Given the description of an element on the screen output the (x, y) to click on. 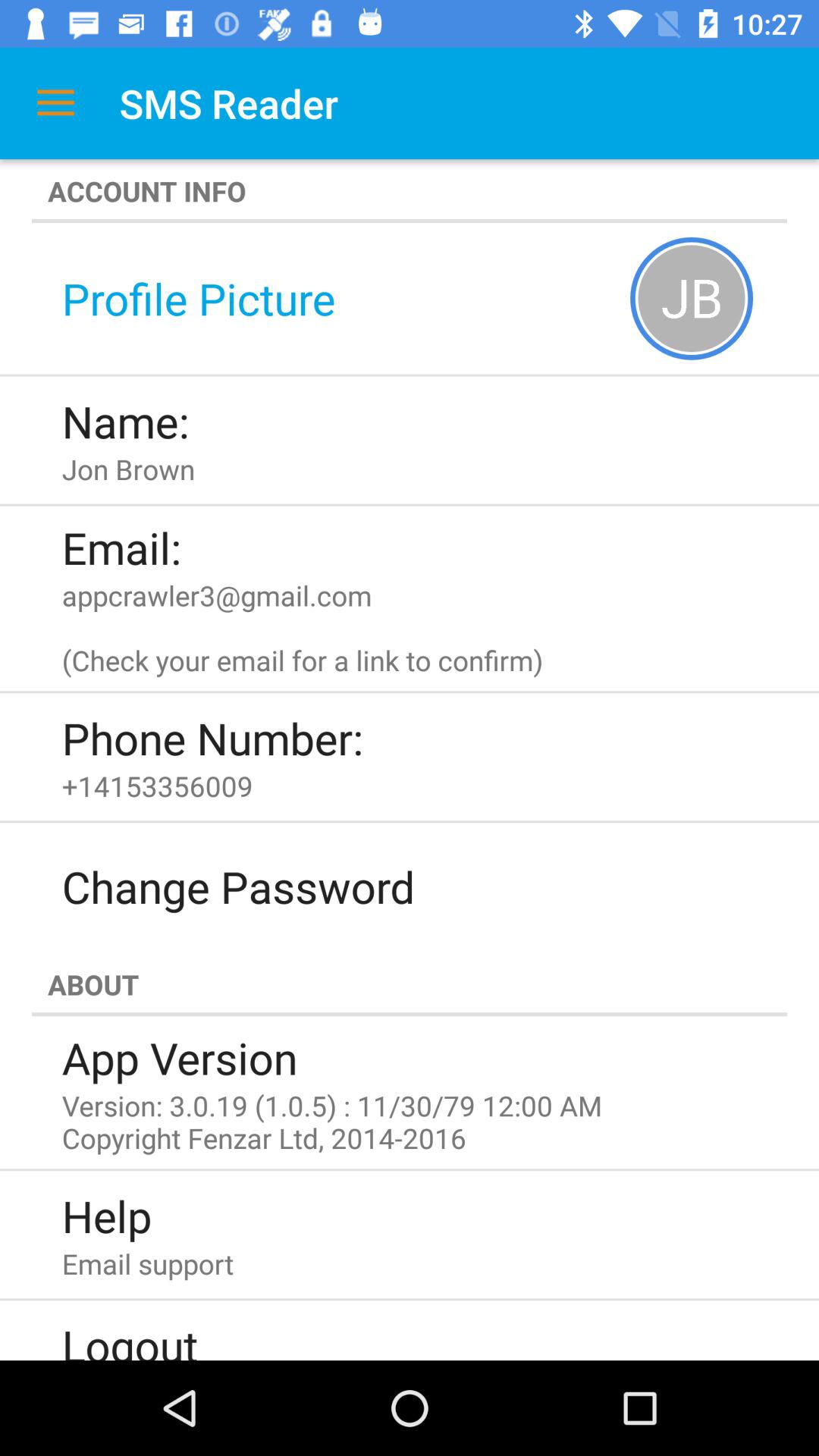
tap account info icon (409, 190)
